Given the description of an element on the screen output the (x, y) to click on. 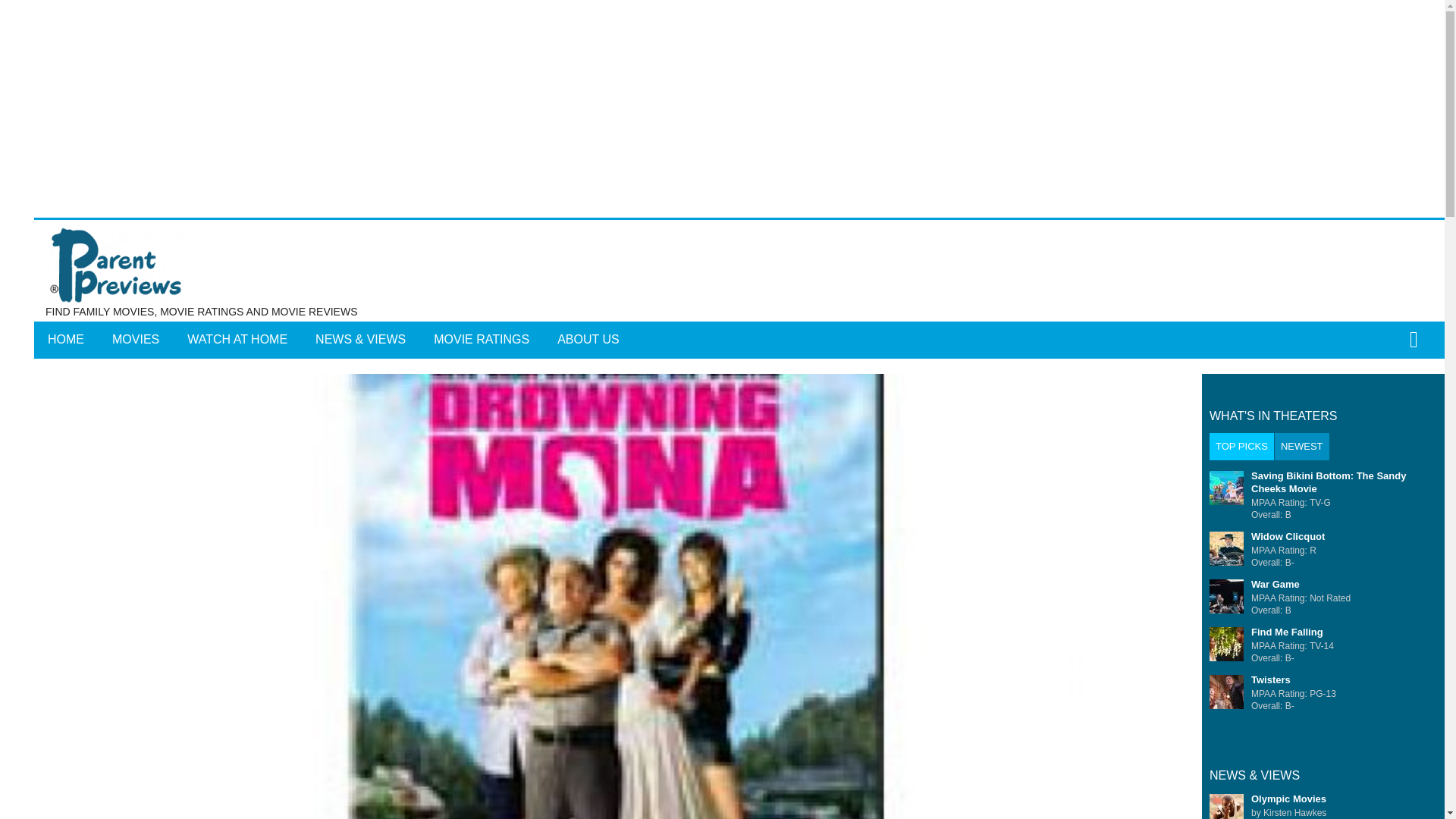
MOVIE RATINGS (481, 339)
ABOUT US (588, 339)
HOME (65, 339)
WATCH AT HOME (237, 339)
Search (763, 349)
MOVIES (136, 339)
